Given the description of an element on the screen output the (x, y) to click on. 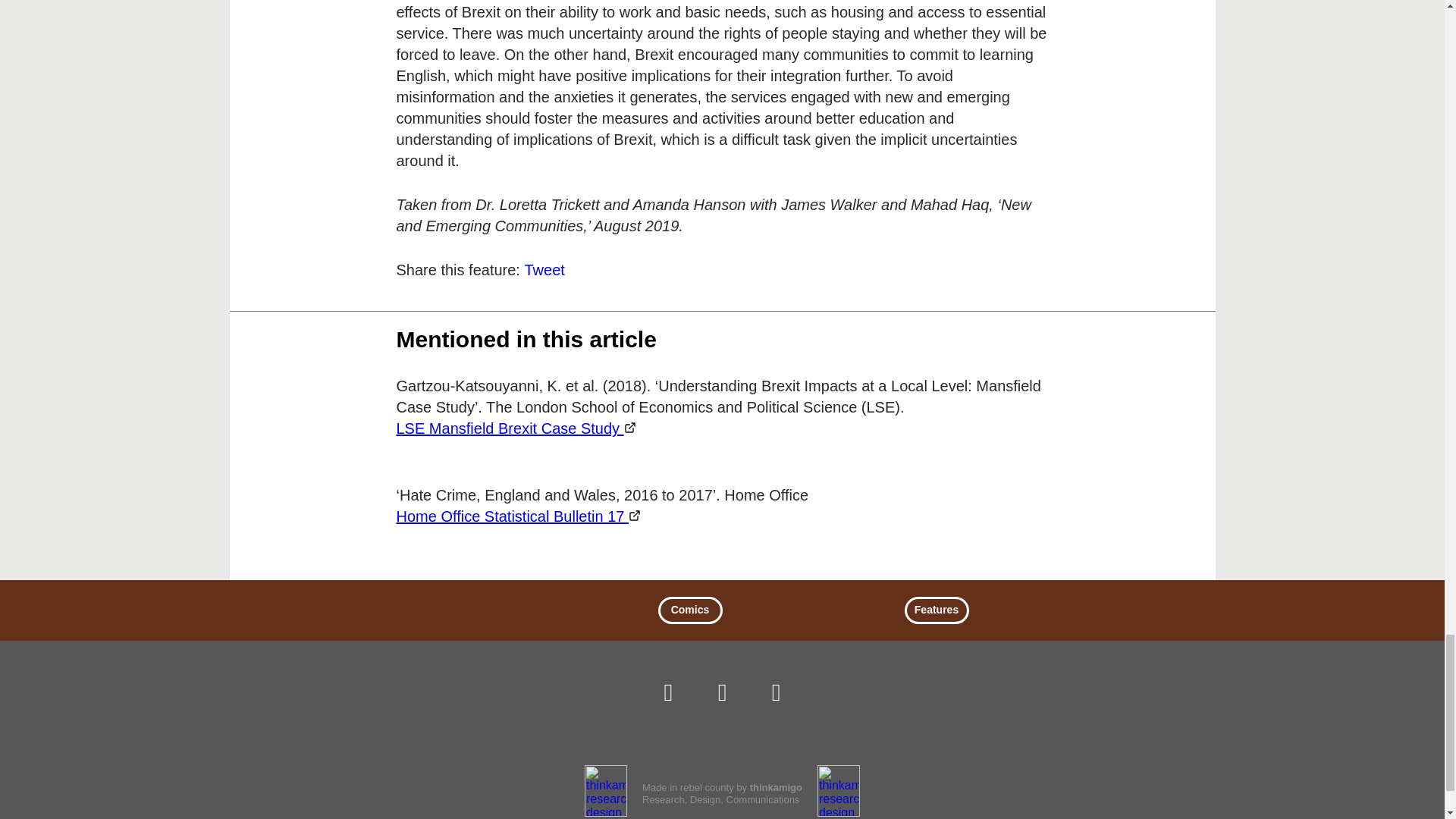
Home Office Statistical Bulletin 17 (518, 516)
Comics (690, 610)
Instagram (668, 692)
LSE Mansfield Brexit Case Study (515, 427)
Twitter (722, 692)
Features (936, 610)
YouTube (776, 692)
Tweet (544, 269)
